Given the description of an element on the screen output the (x, y) to click on. 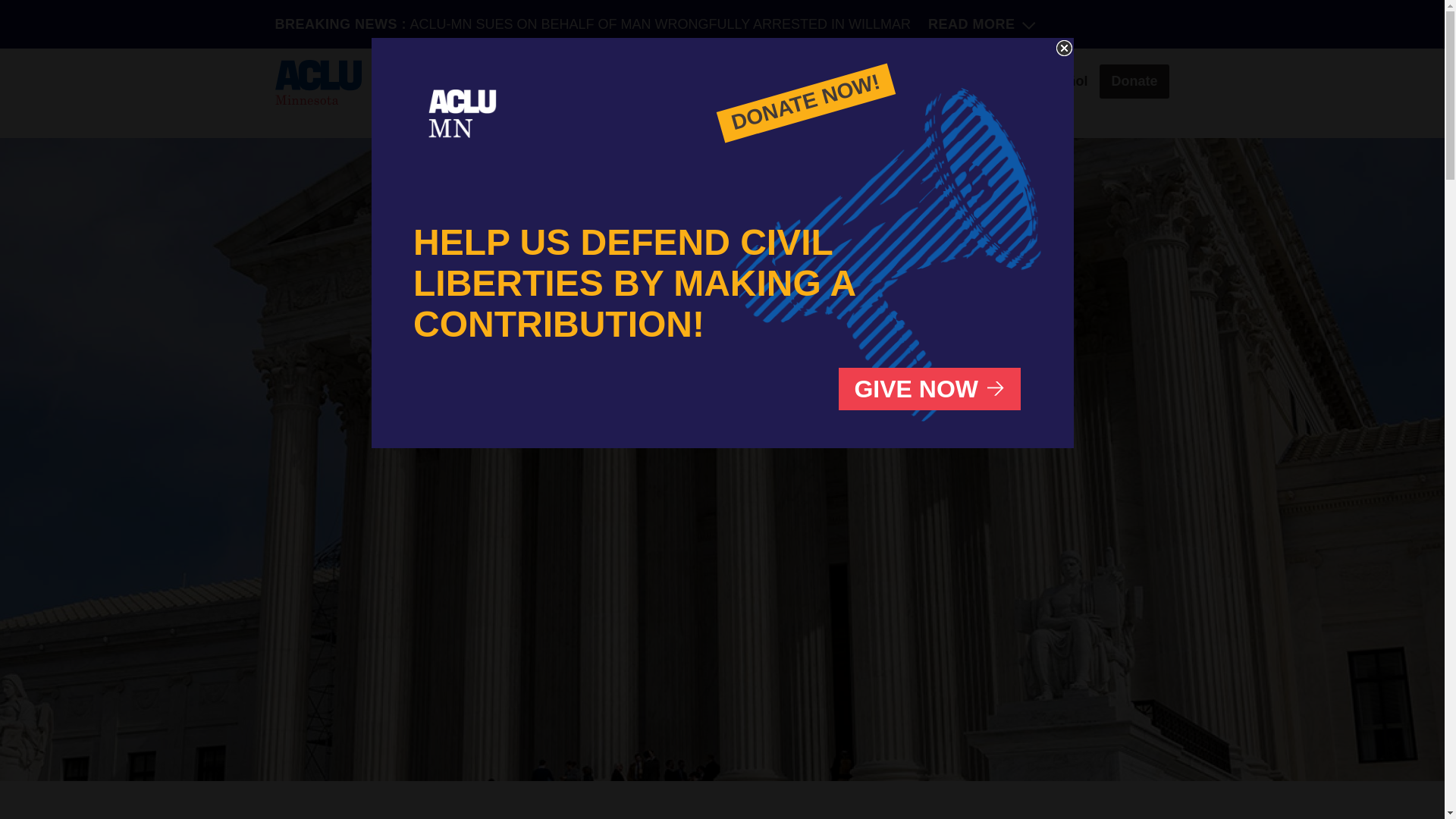
Events (942, 81)
ACLU of Minnesota - logo (318, 82)
Act (999, 81)
Resources (861, 81)
Return to the ACLU of Minnesota home page (462, 116)
